Given the description of an element on the screen output the (x, y) to click on. 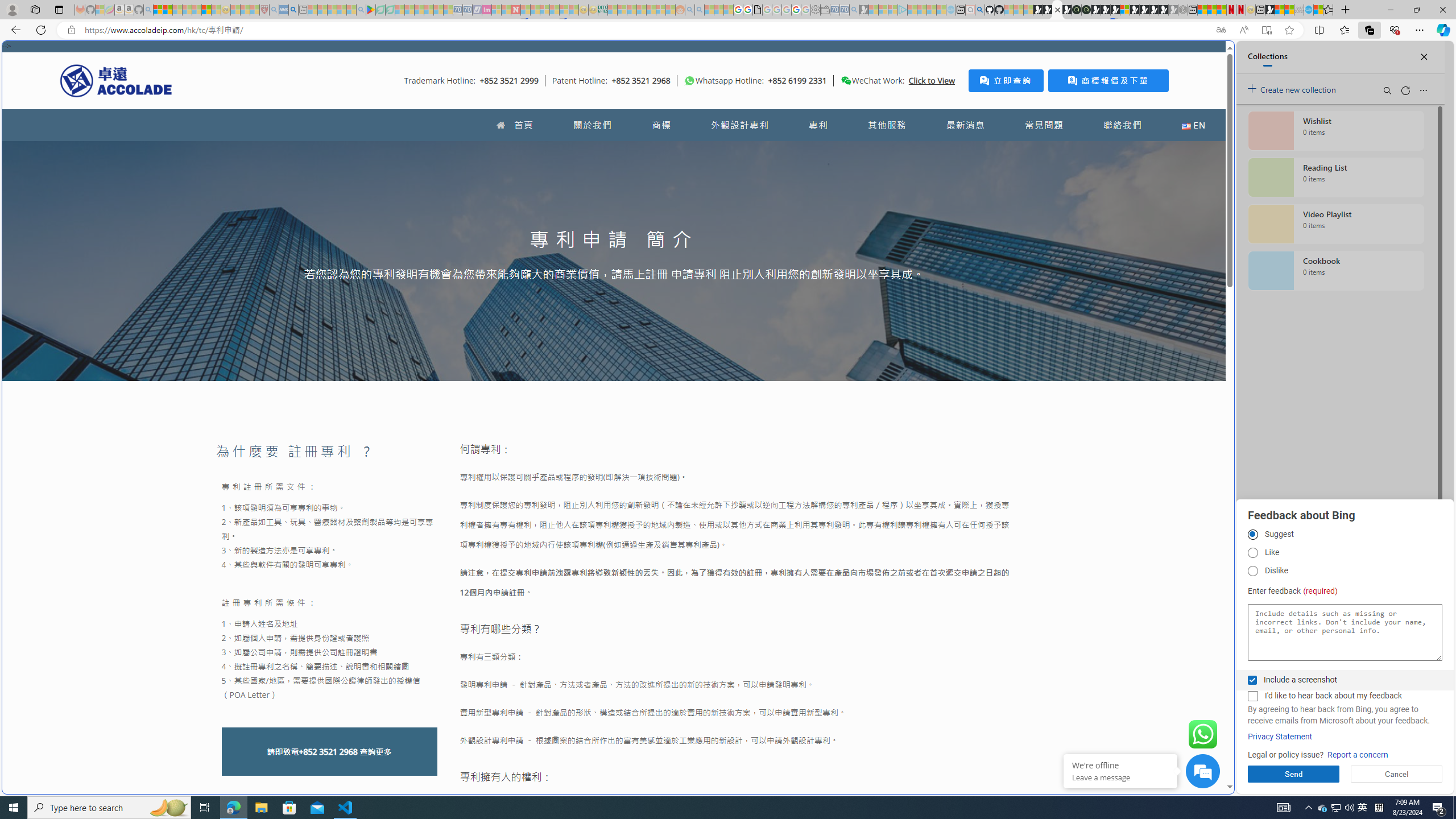
Cancel (1396, 773)
utah sues federal government - Search (922, 389)
